Given the description of an element on the screen output the (x, y) to click on. 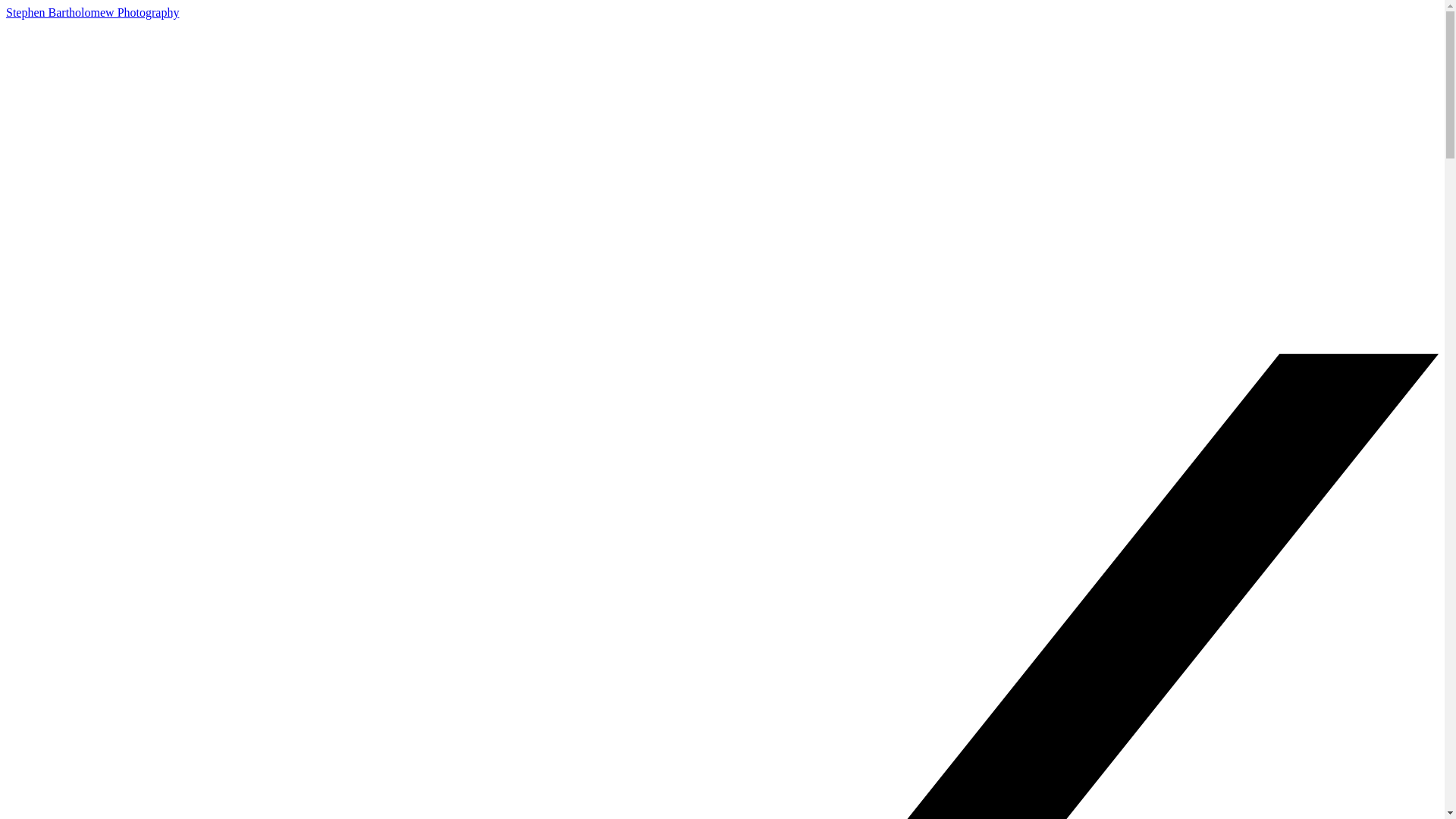
Stephen Bartholomew Photography (92, 11)
